Given the description of an element on the screen output the (x, y) to click on. 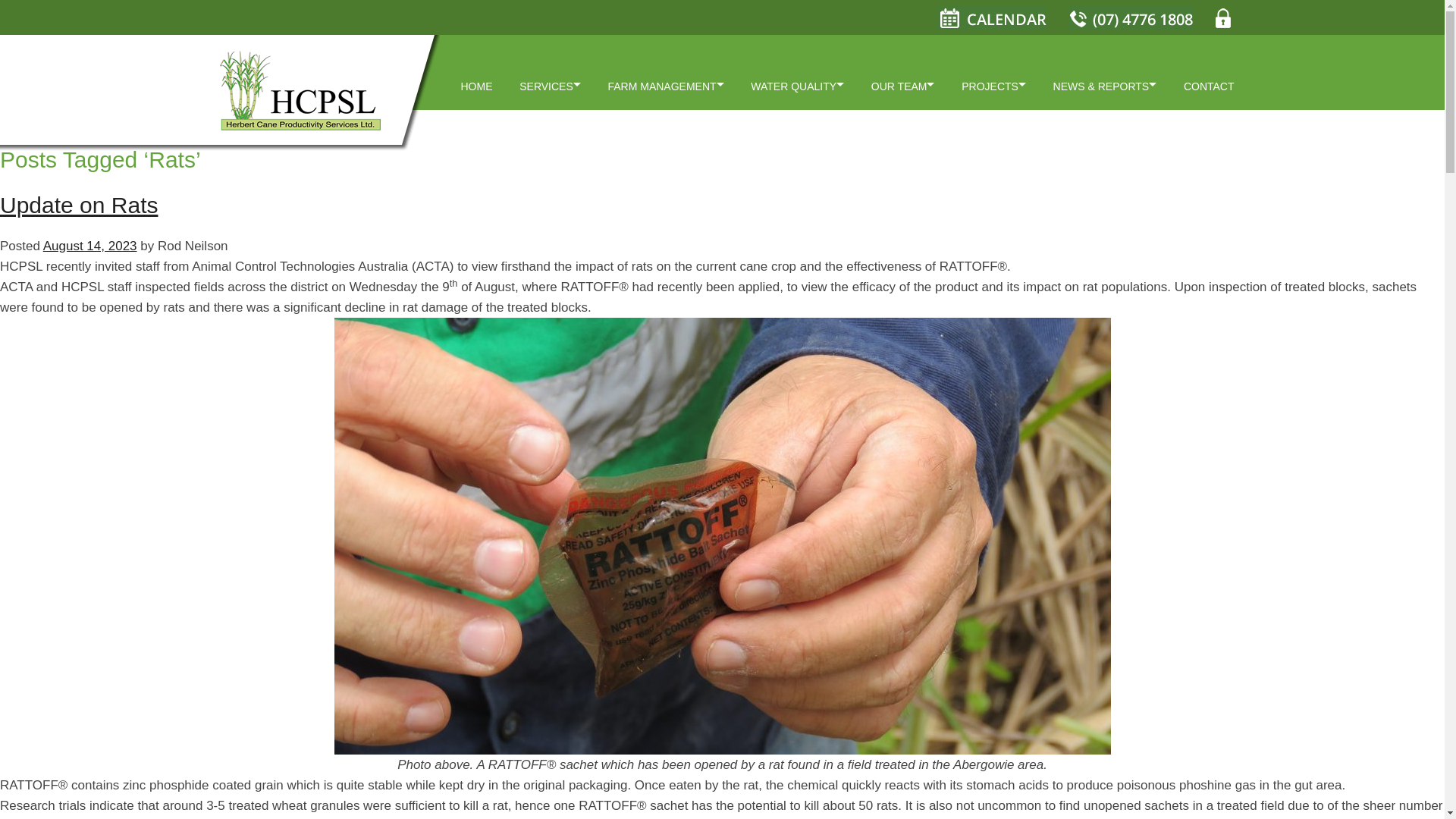
FARM MANAGEMENT (661, 89)
PROJECTS (989, 89)
OUR TEAM (898, 89)
7:34 am (89, 246)
WATER QUALITY (793, 89)
SERVICES (546, 89)
HOME (476, 89)
